Given the description of an element on the screen output the (x, y) to click on. 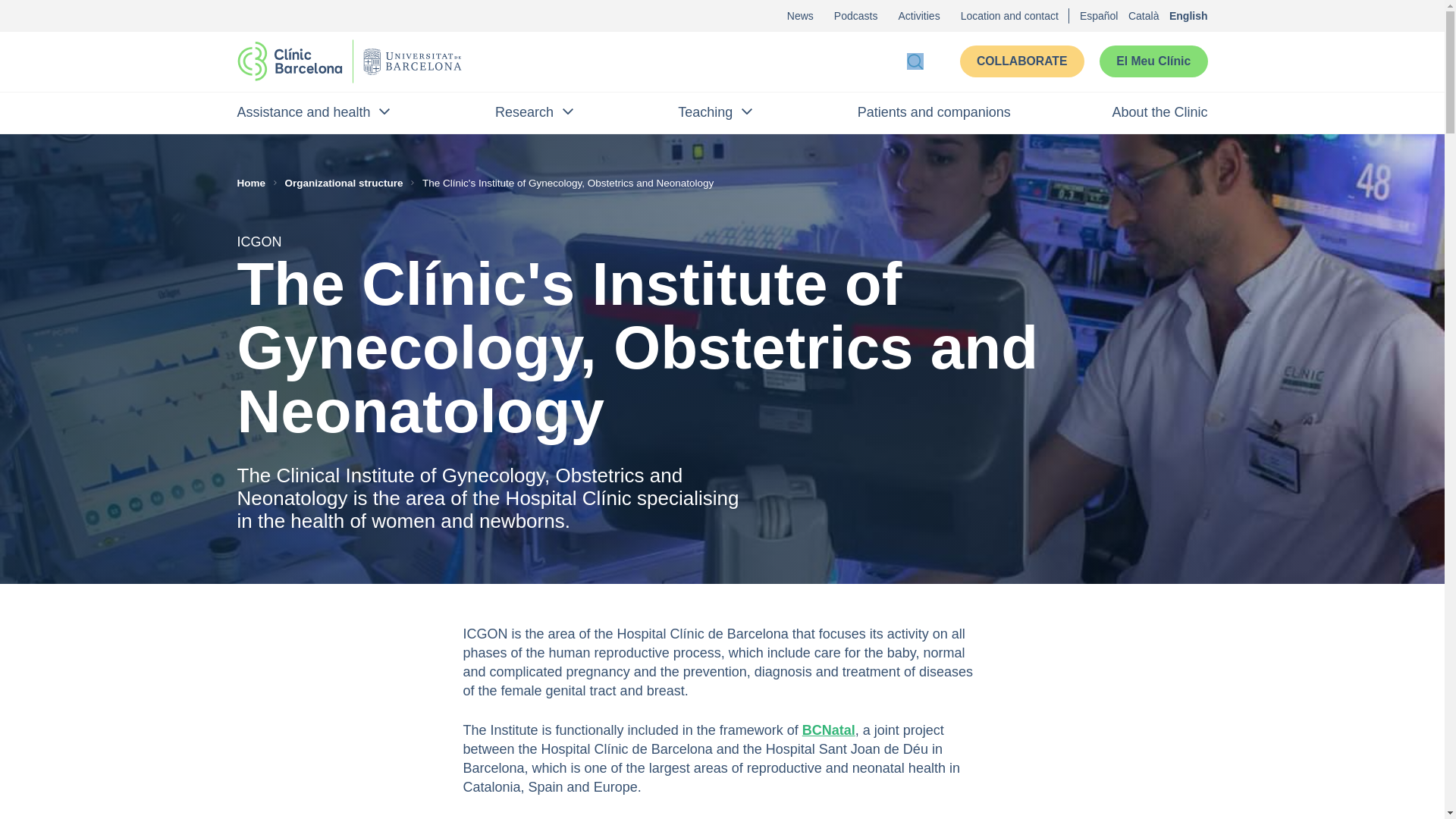
Assistance and health (314, 112)
Teaching (716, 112)
Patients and companions (933, 112)
News (800, 15)
Organizational structure (347, 182)
Research (535, 112)
COLLABORATE (1021, 60)
Location and contact (1009, 15)
Podcasts (855, 15)
Activities (918, 15)
